Given the description of an element on the screen output the (x, y) to click on. 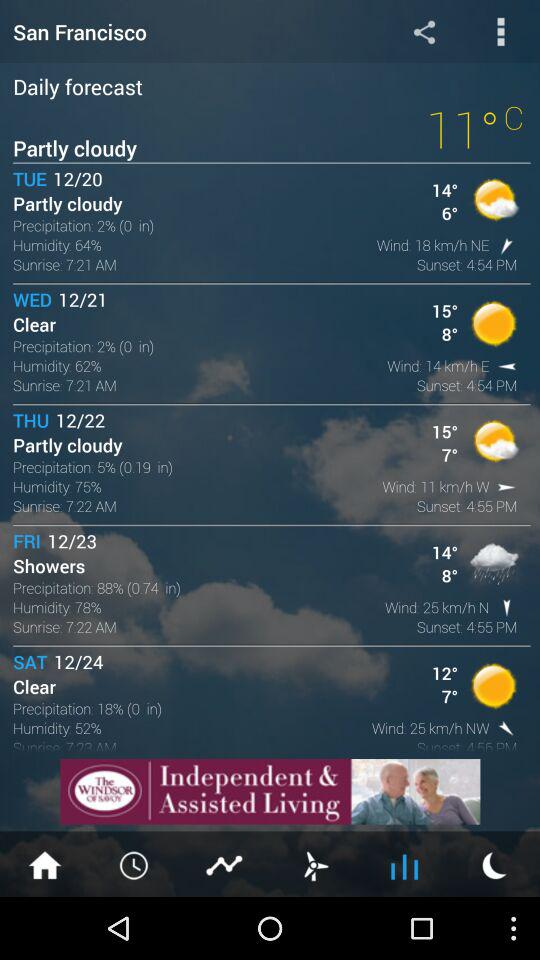
check previous history (135, 864)
